Given the description of an element on the screen output the (x, y) to click on. 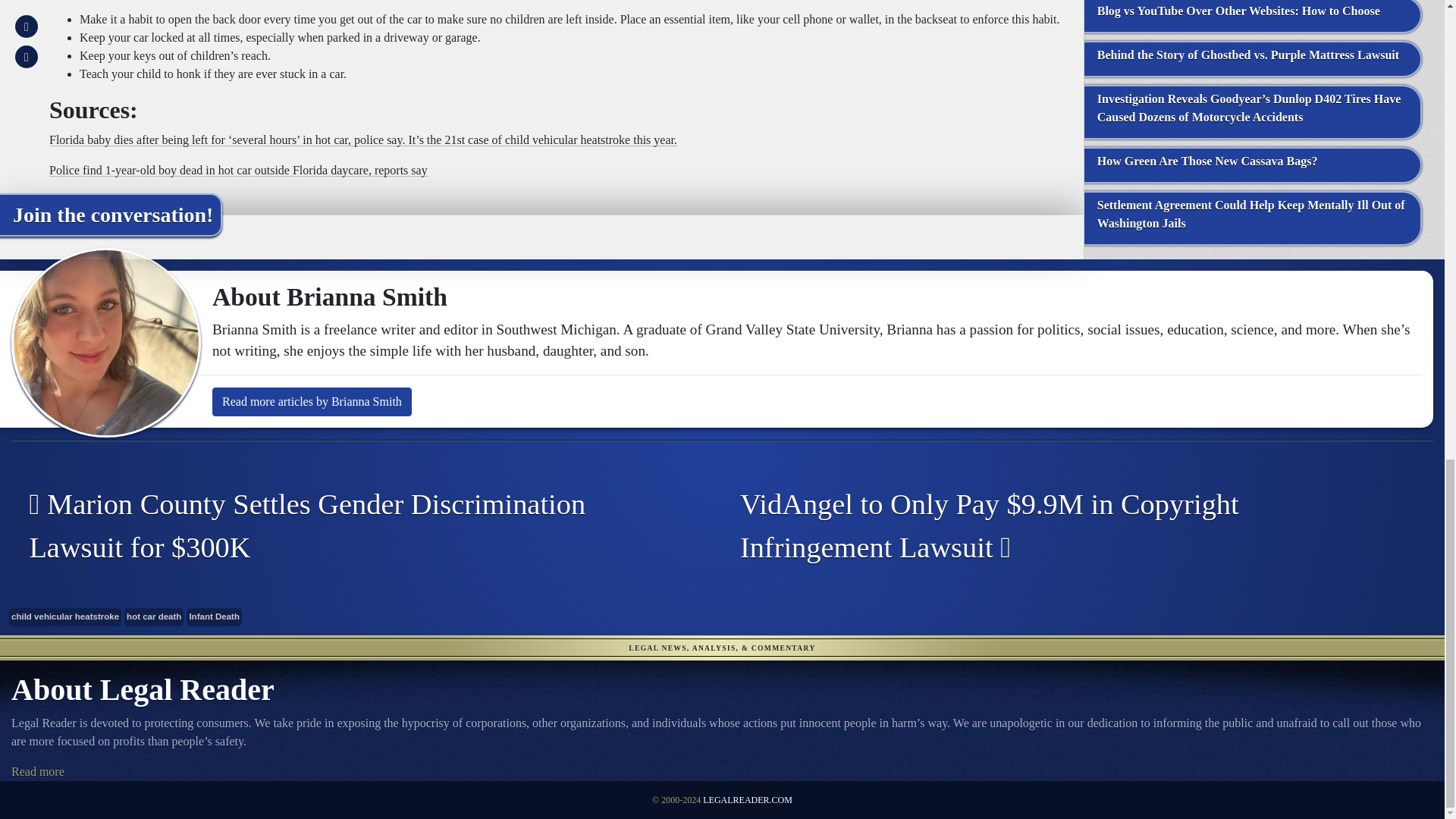
Read more articles by Brianna Smith (312, 401)
Read more articles by Brianna Smith (312, 401)
child vehicular heatstroke (64, 616)
